Given the description of an element on the screen output the (x, y) to click on. 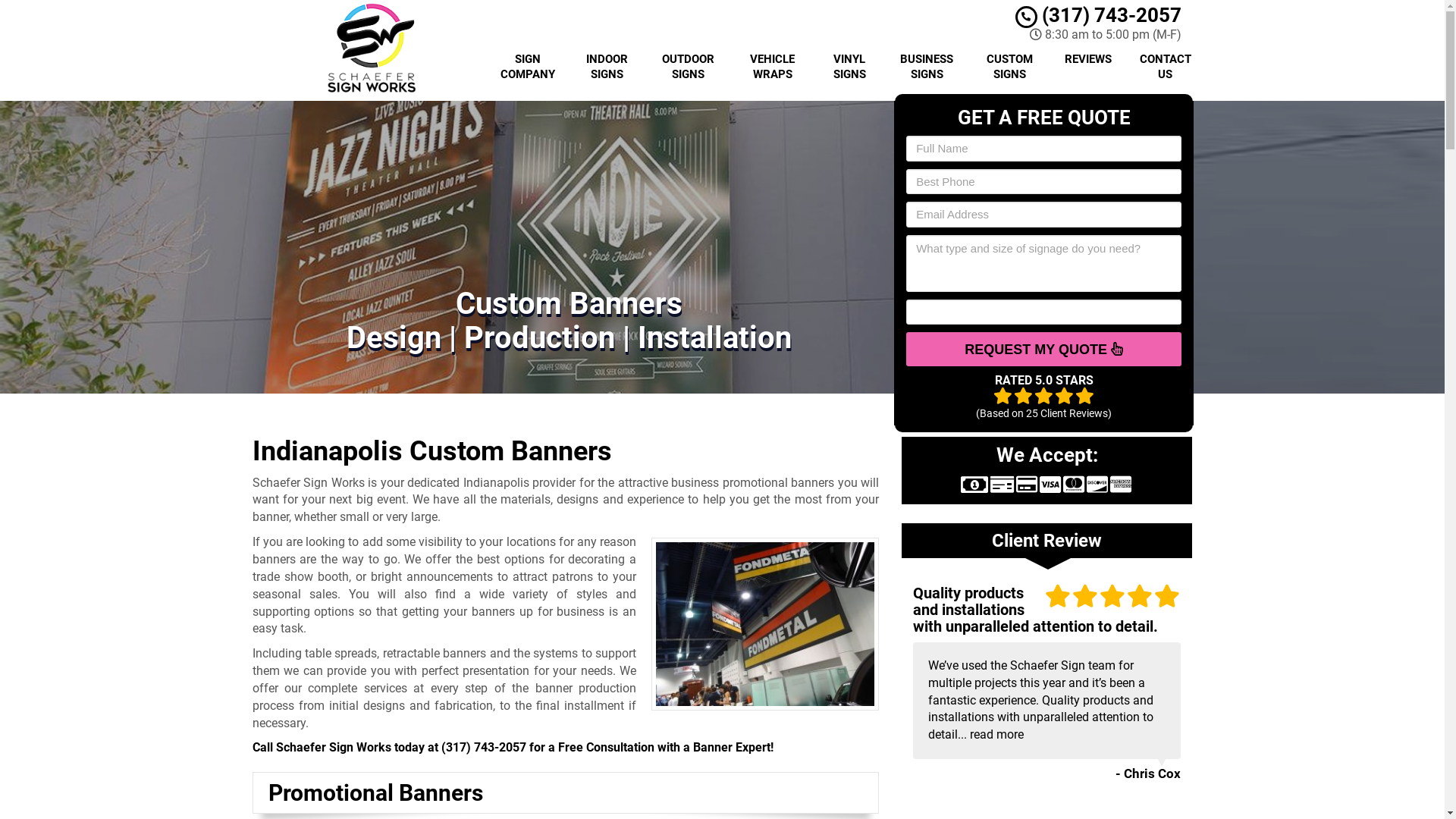
VISA Element type: hover (1049, 483)
American Express Element type: hover (1120, 483)
REQUEST MY QUOTE Element type: text (1043, 349)
Checks Accepted Element type: hover (1001, 483)
OUTDOOR SIGNS Element type: text (687, 66)
read more Element type: text (996, 734)
INDOOR SIGNS Element type: text (606, 66)
SIGN COMPANY Element type: text (526, 66)
(317) 743-2057 Element type: text (1097, 14)
VEHICLE WRAPS Element type: text (772, 66)
CONTACT US Element type: text (1165, 66)
Mastercard Element type: hover (1073, 483)
(317) 743-2057 Element type: text (483, 747)
Debit Card Element type: hover (1026, 483)
REVIEWS Element type: text (1087, 66)
BUSINESS SIGNS Element type: text (926, 66)
Discover Element type: hover (1096, 483)
Cash Element type: hover (974, 484)
CUSTOM SIGNS Element type: text (1009, 66)
VINYL SIGNS Element type: text (848, 66)
(Based on 25 Client Reviews) Element type: text (1043, 405)
